Given the description of an element on the screen output the (x, y) to click on. 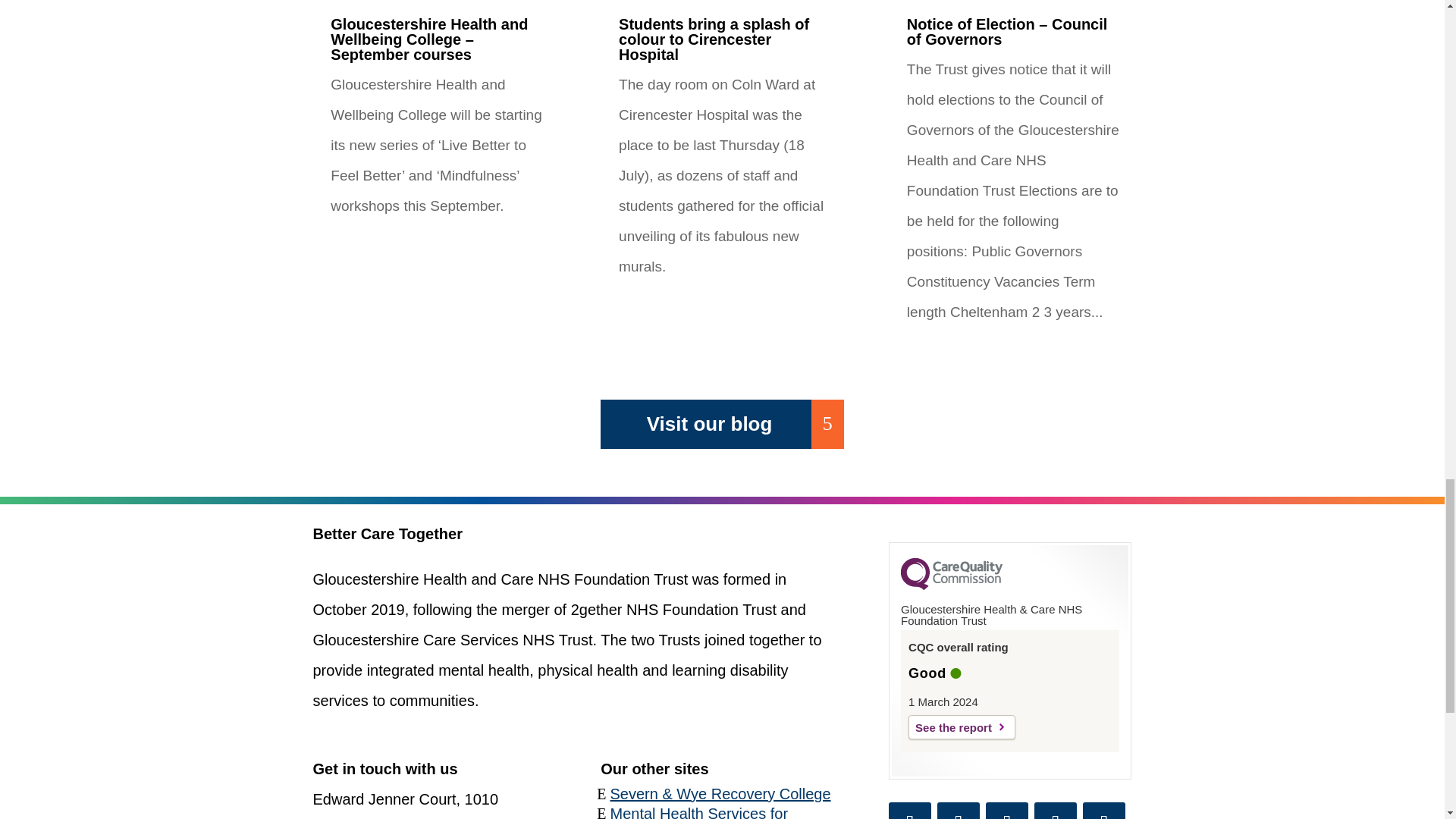
CQC Logo (952, 585)
Follow on LinkedIn (1006, 810)
Follow on Facebook (909, 810)
Follow on X (958, 810)
Follow on YouTube (1104, 810)
Follow on Instagram (1055, 810)
